Given the description of an element on the screen output the (x, y) to click on. 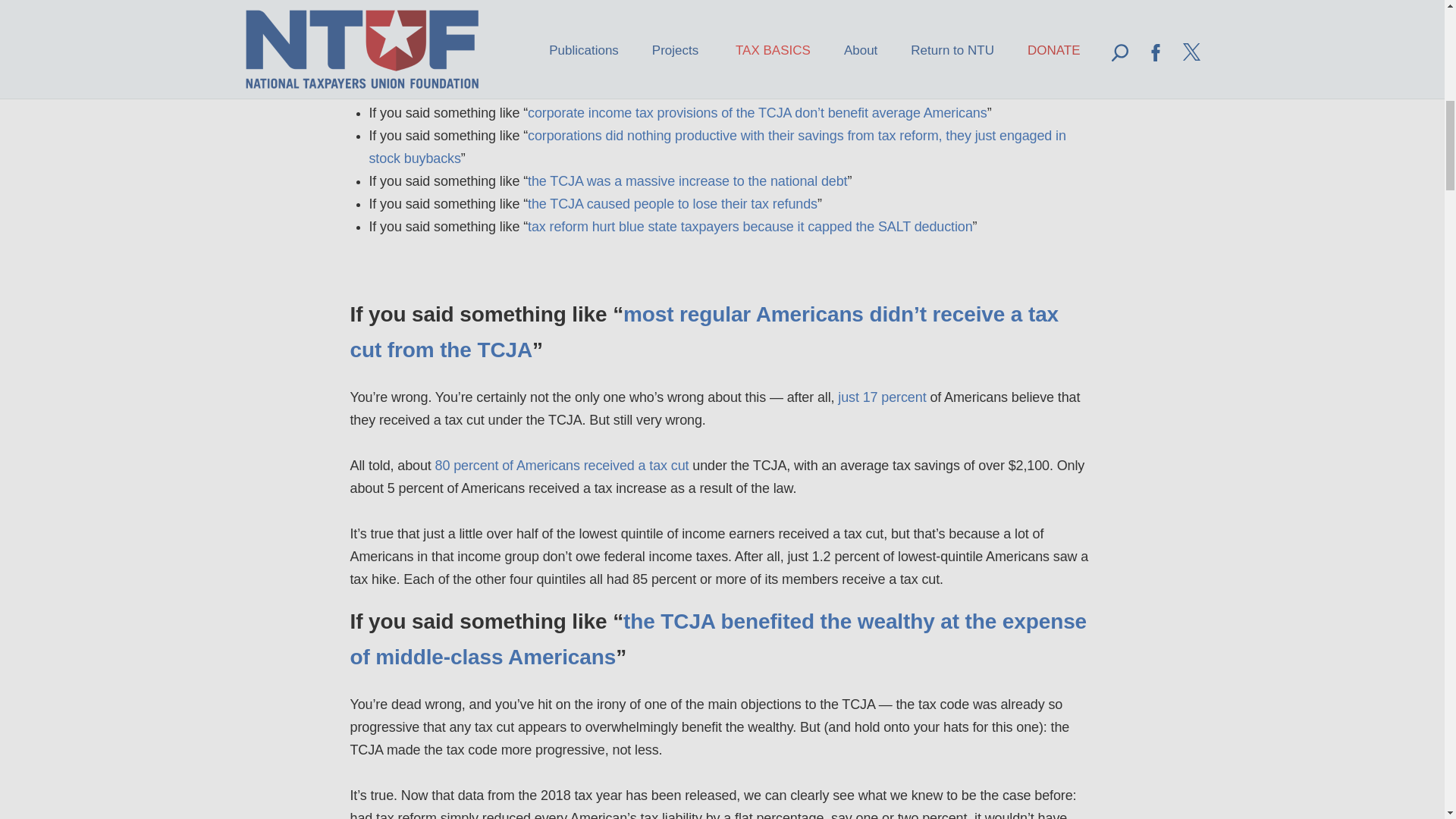
just 17 percent (882, 396)
the TCJA was a massive increase to the national debt (687, 181)
the TCJA caused people to lose their tax refunds (671, 203)
80 percent of Americans received a tax cut (561, 465)
